Given the description of an element on the screen output the (x, y) to click on. 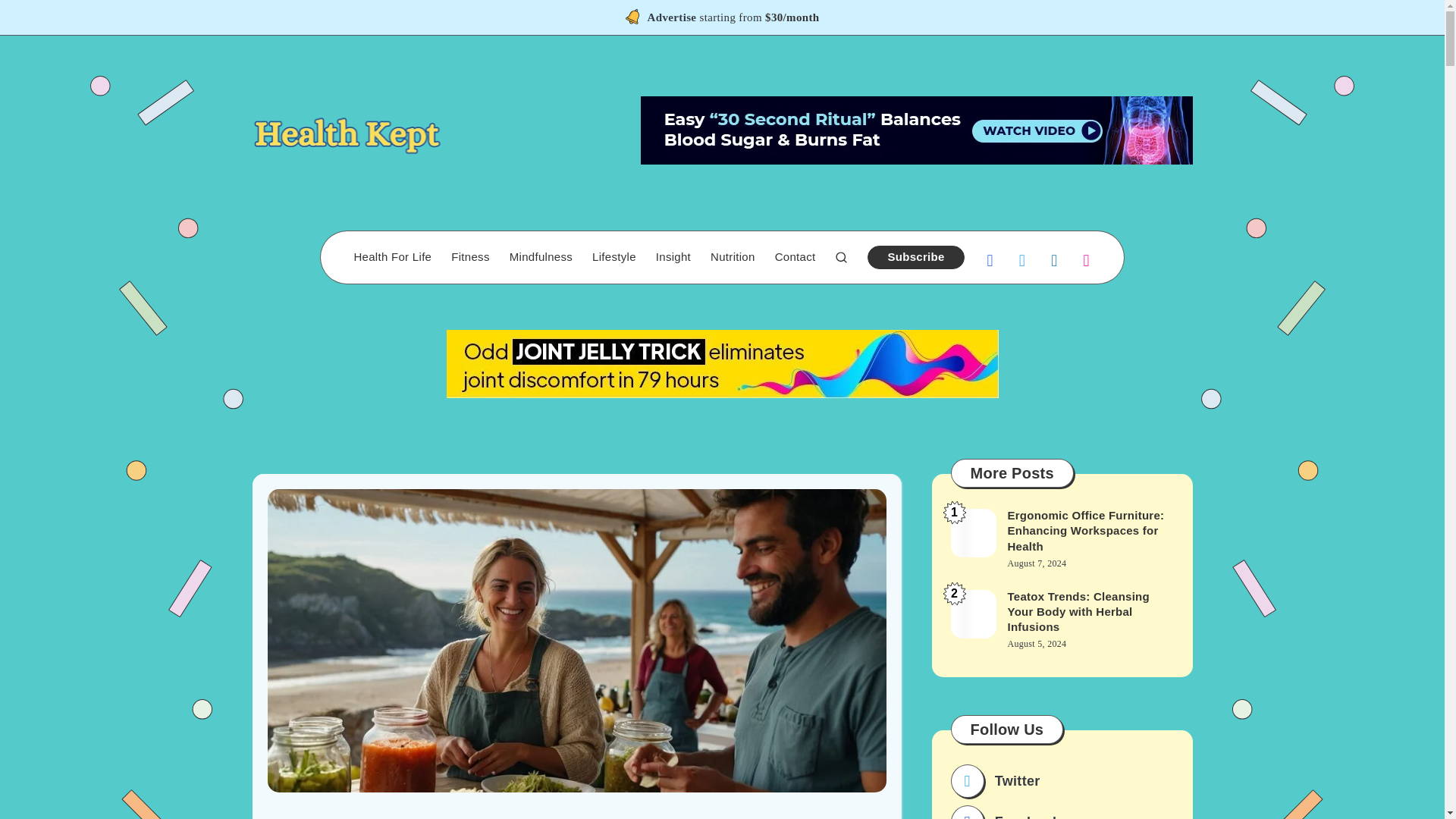
Mindfulness (540, 257)
Lifestyle (614, 257)
Health For Life (391, 257)
Insight (673, 257)
Contact (794, 257)
Nutrition (732, 257)
Fitness (470, 257)
Advertise (672, 19)
Subscribe (915, 257)
